Given the description of an element on the screen output the (x, y) to click on. 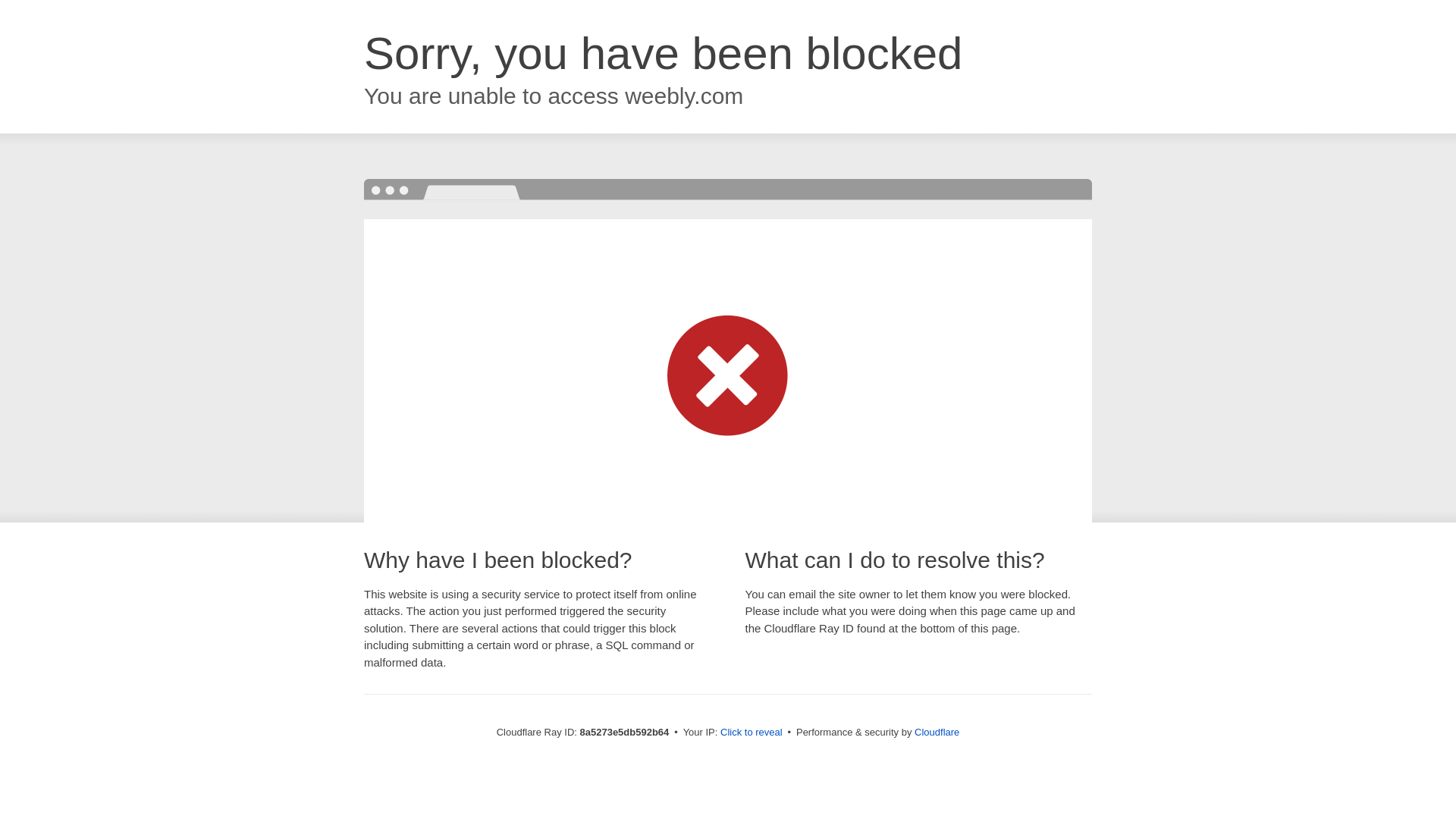
Click to reveal (751, 732)
Cloudflare (936, 731)
